Given the description of an element on the screen output the (x, y) to click on. 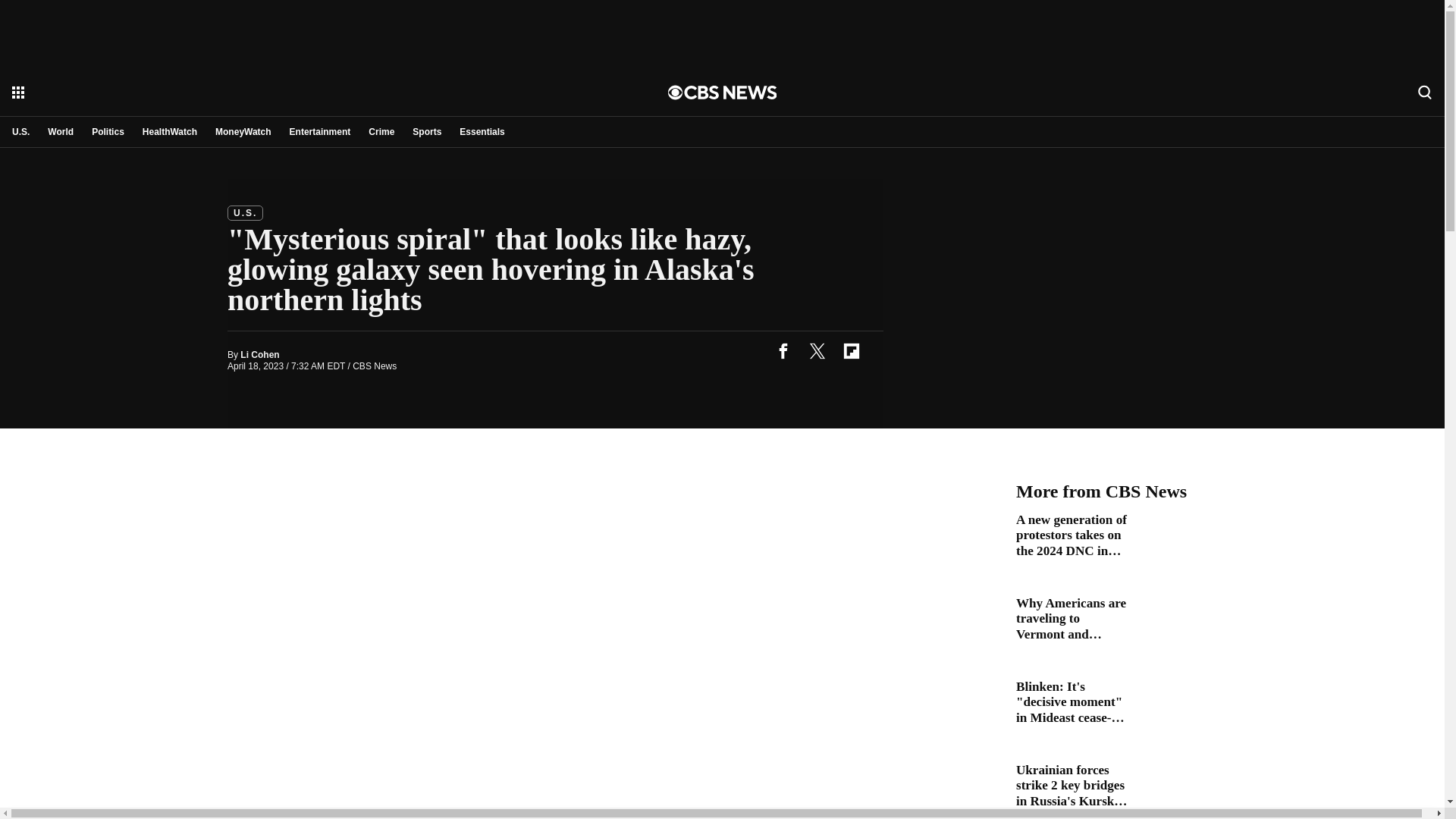
facebook (782, 350)
flipboard (850, 350)
twitter (816, 350)
